Given the description of an element on the screen output the (x, y) to click on. 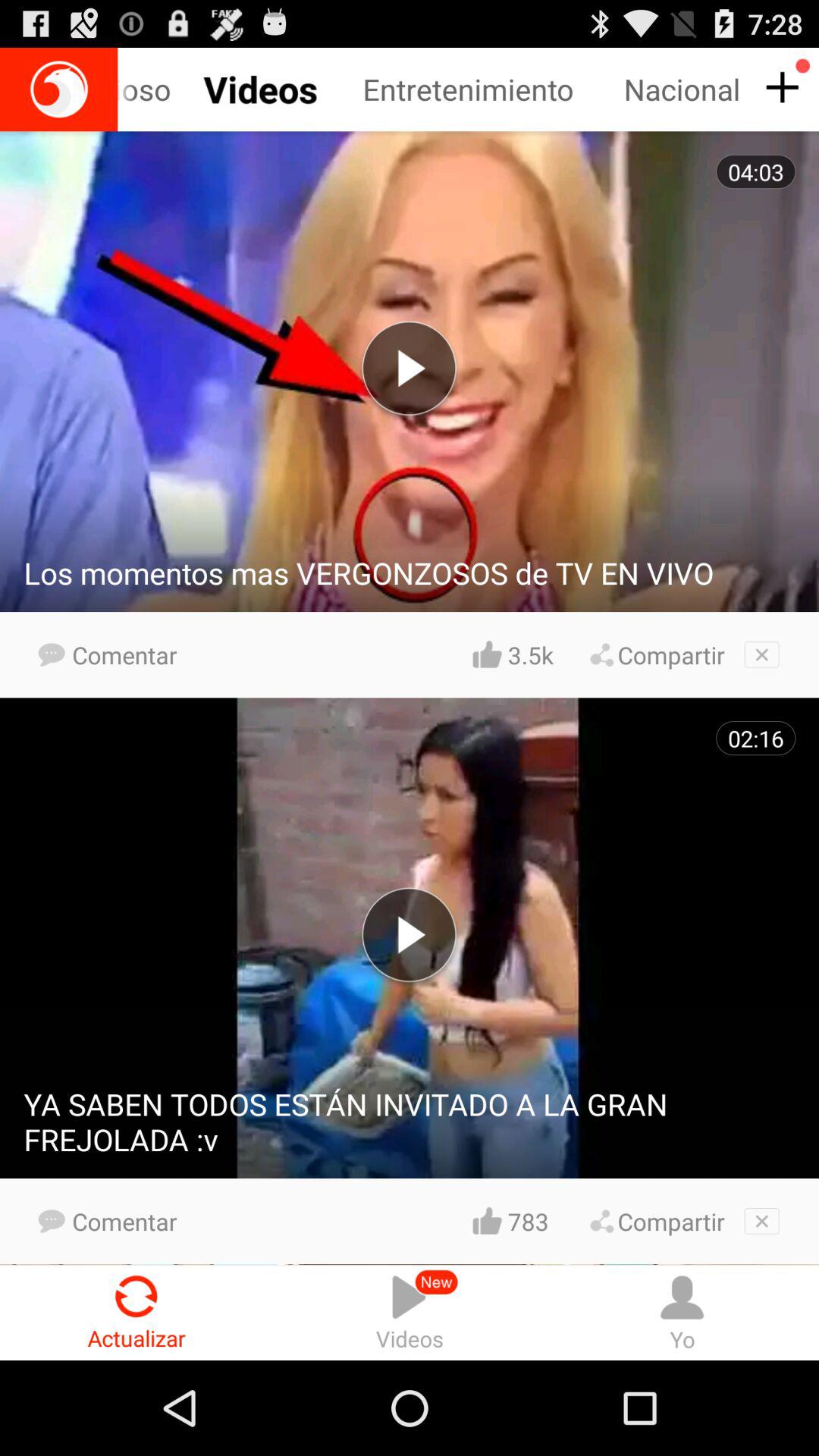
open the app next to compartir icon (530, 1221)
